Given the description of an element on the screen output the (x, y) to click on. 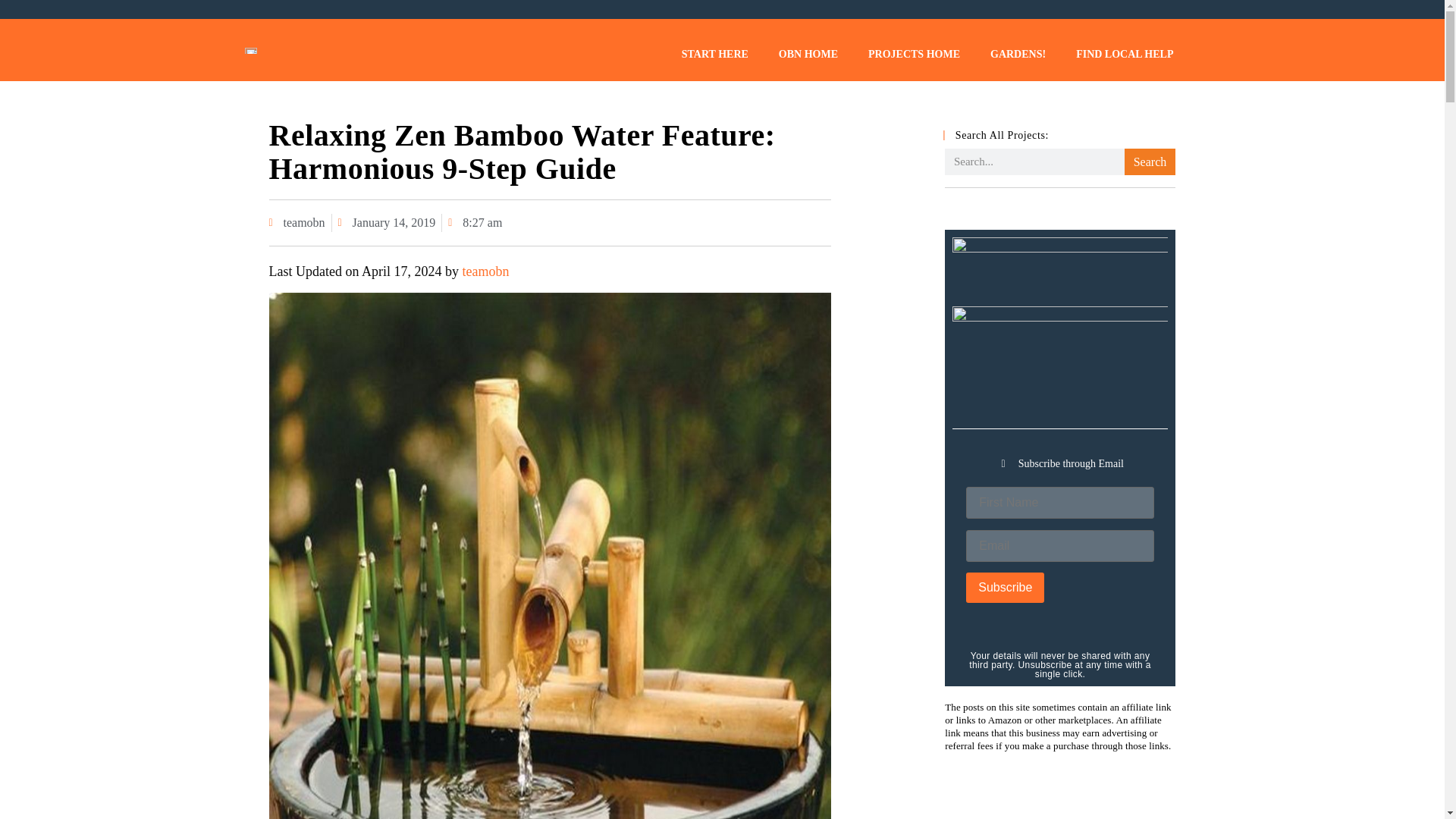
teamobn (295, 222)
January 14, 2019 (386, 222)
PROJECTS HOME (914, 54)
FIND LOCAL HELP (1124, 54)
GARDENS! (1018, 54)
START HERE (714, 54)
teamobn (484, 271)
OBN HOME (807, 54)
